Given the description of an element on the screen output the (x, y) to click on. 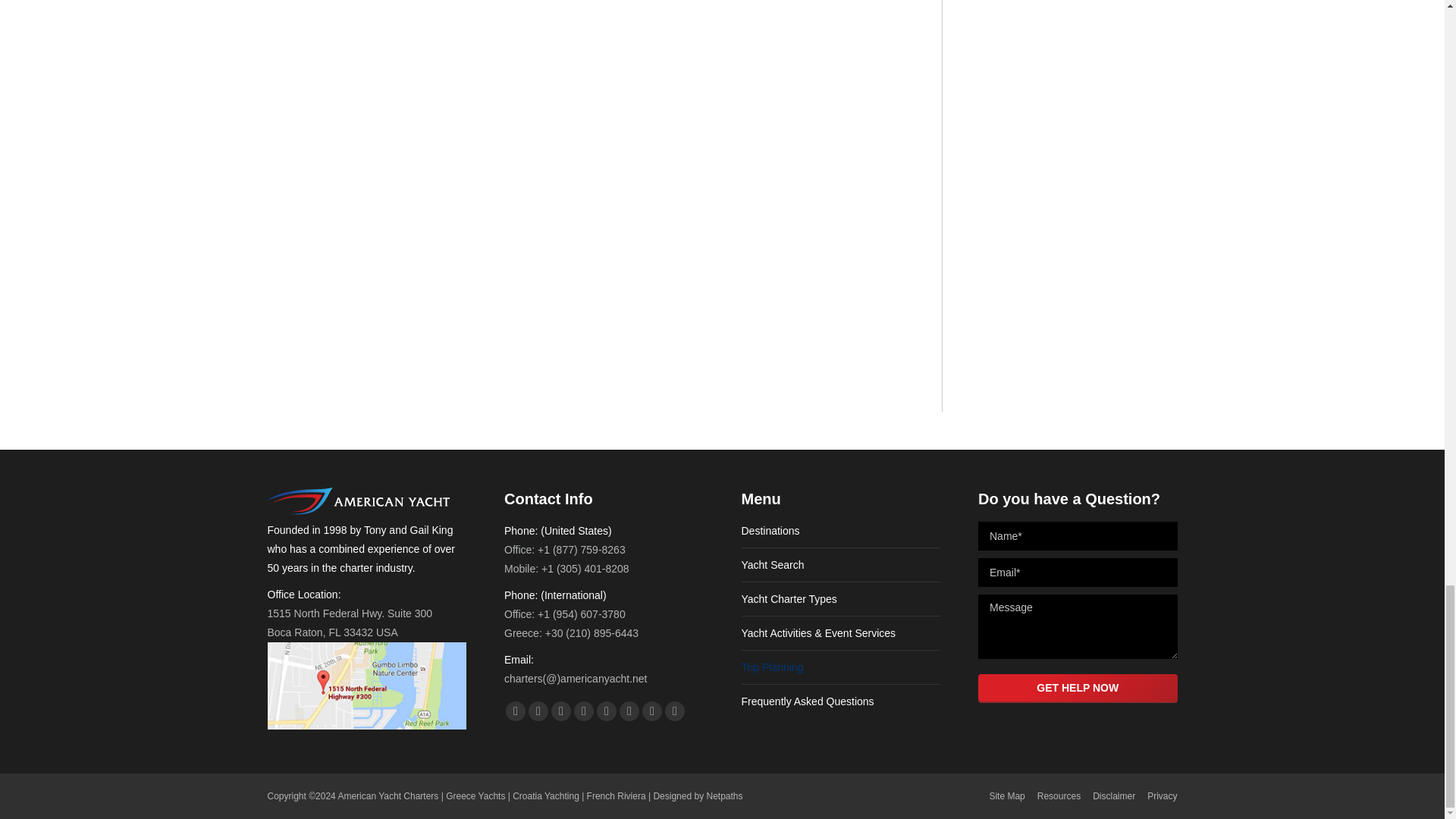
Get Help Now (1077, 687)
